Given the description of an element on the screen output the (x, y) to click on. 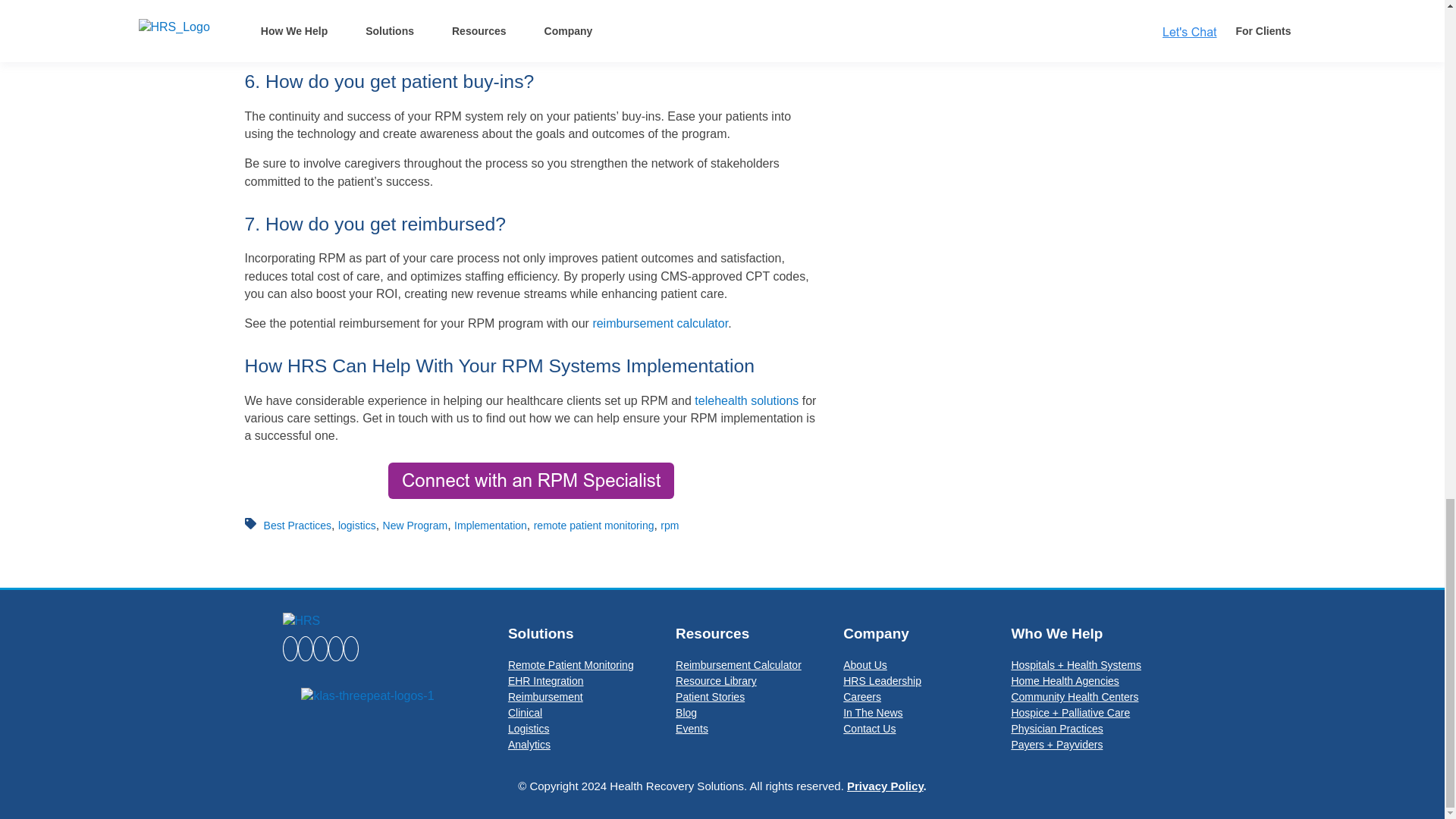
klas-threepeat-logos-1 (367, 695)
